Given the description of an element on the screen output the (x, y) to click on. 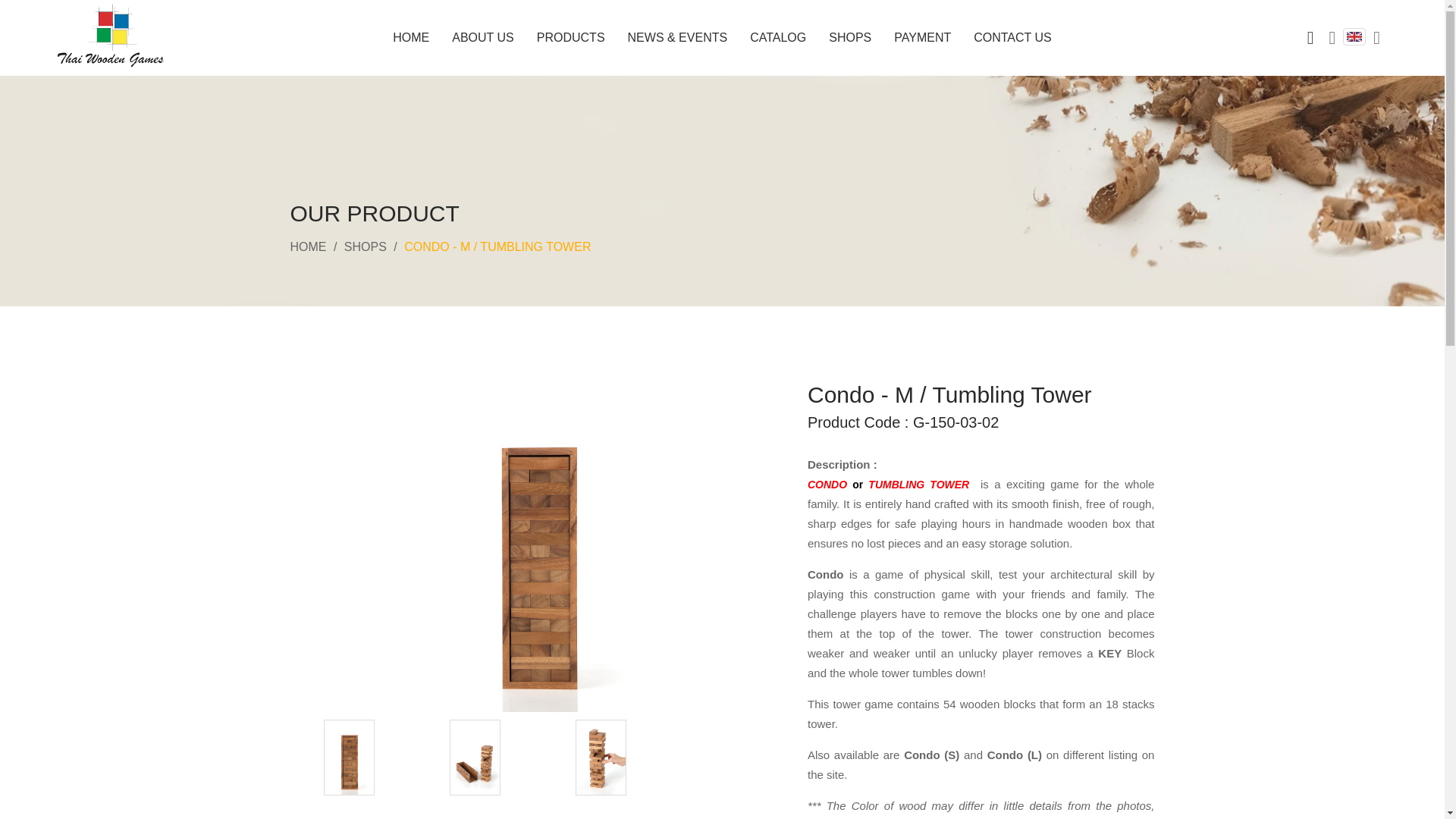
HOME (307, 246)
Login (1331, 37)
CONTACT US (1012, 38)
English (1353, 36)
PRODUCTS (571, 38)
SHOPS (365, 246)
